Given the description of an element on the screen output the (x, y) to click on. 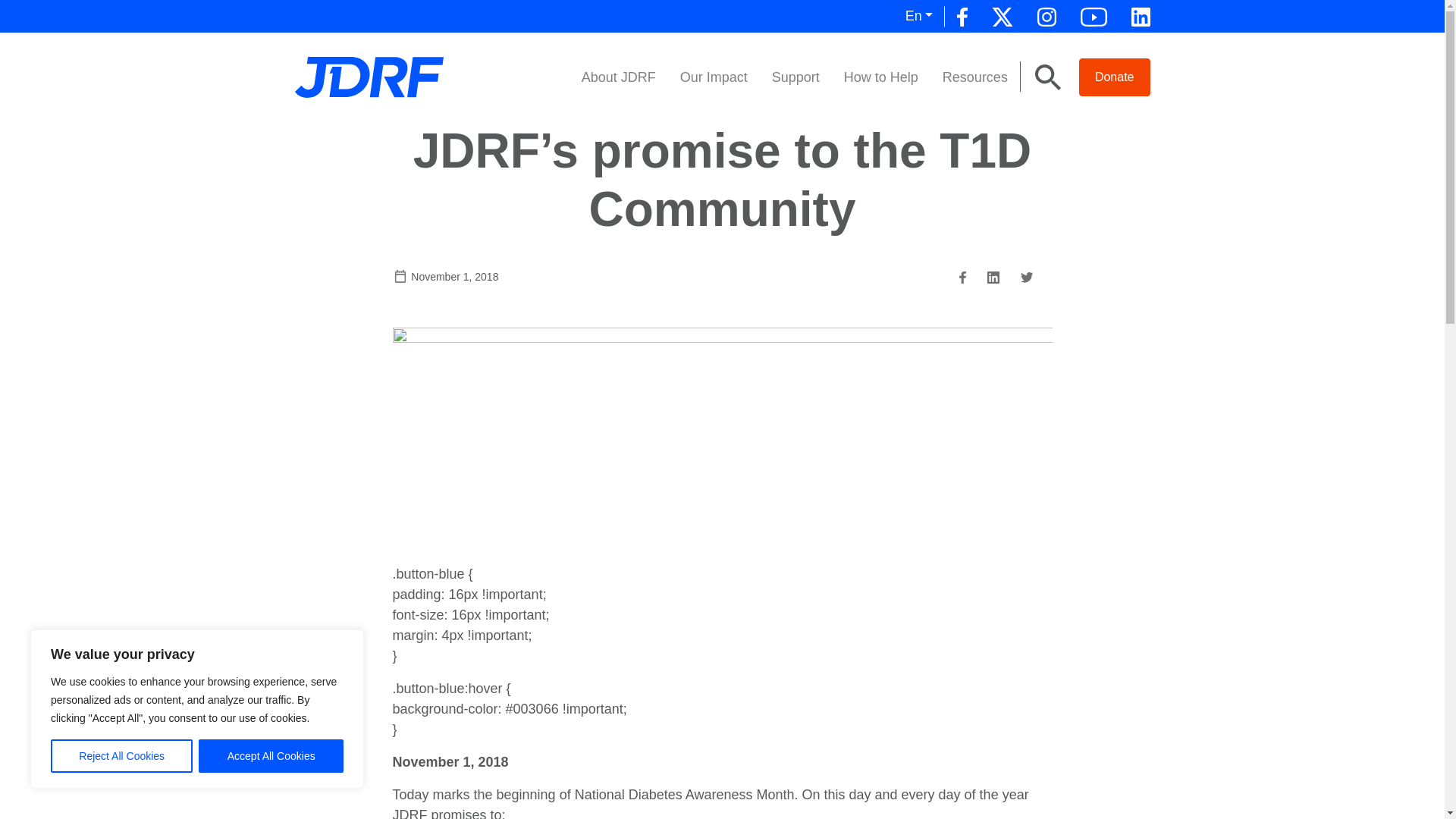
JDRF Canada (368, 76)
Reject All Cookies (121, 756)
En (918, 16)
Accept All Cookies (270, 756)
About JDRF (618, 76)
Our Impact (714, 76)
